Given the description of an element on the screen output the (x, y) to click on. 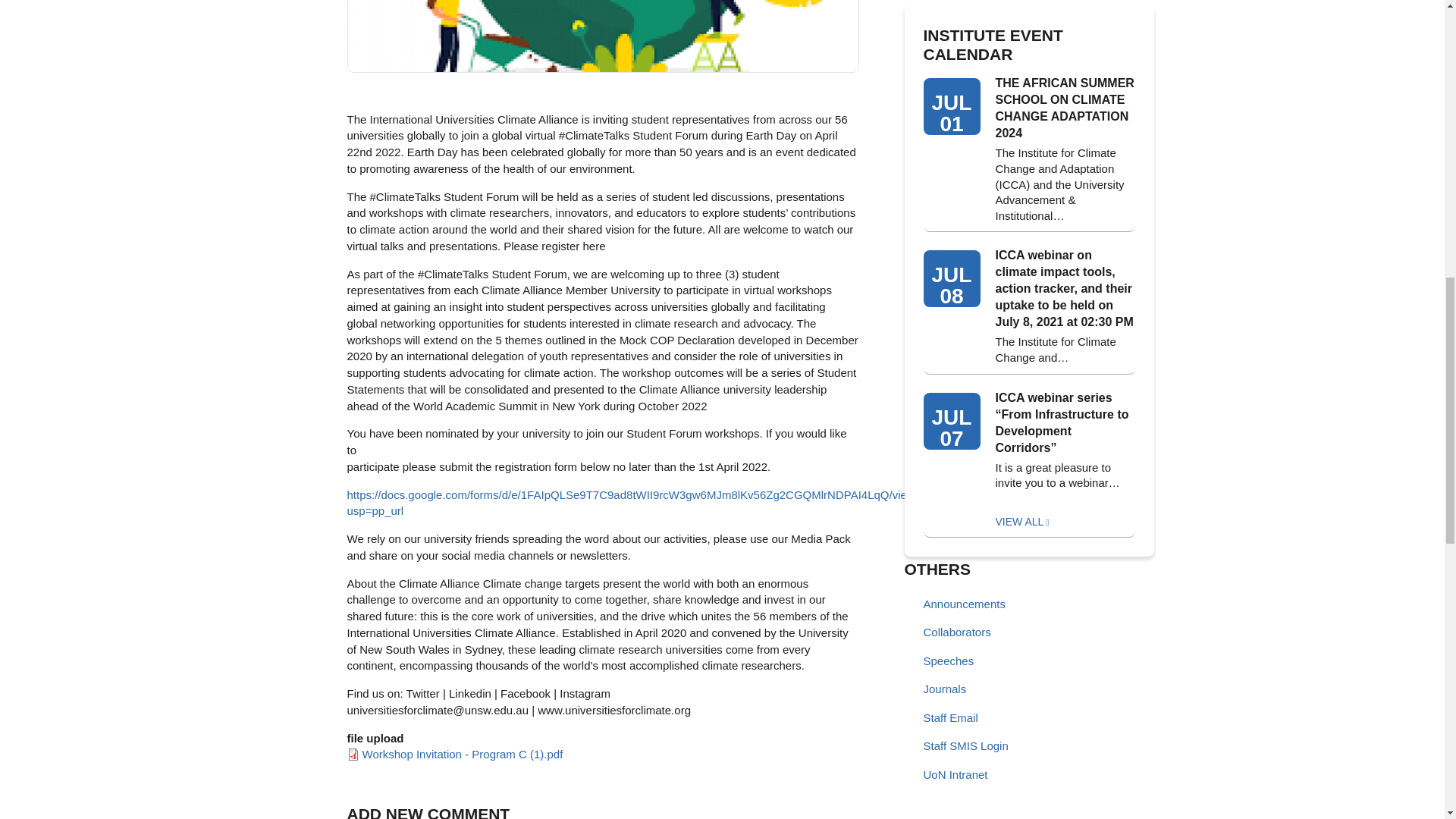
Collaborators (972, 633)
Speeches (972, 661)
Announcements (972, 604)
